Given the description of an element on the screen output the (x, y) to click on. 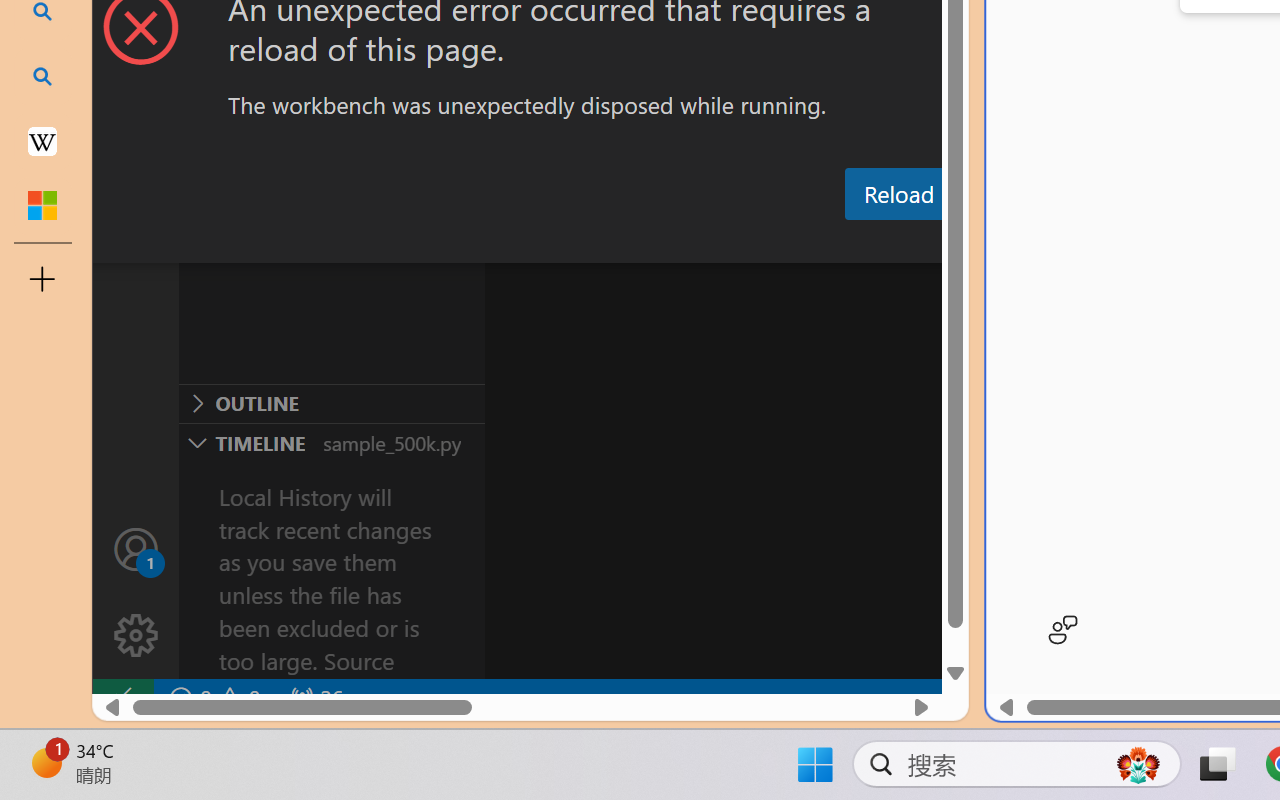
No Problems (212, 698)
remote (122, 698)
Debug Console (Ctrl+Shift+Y) (854, 243)
Manage (135, 635)
Output (Ctrl+Shift+U) (696, 243)
Timeline Section (331, 442)
Manage (135, 591)
Problems (Ctrl+Shift+M) (567, 243)
